Given the description of an element on the screen output the (x, y) to click on. 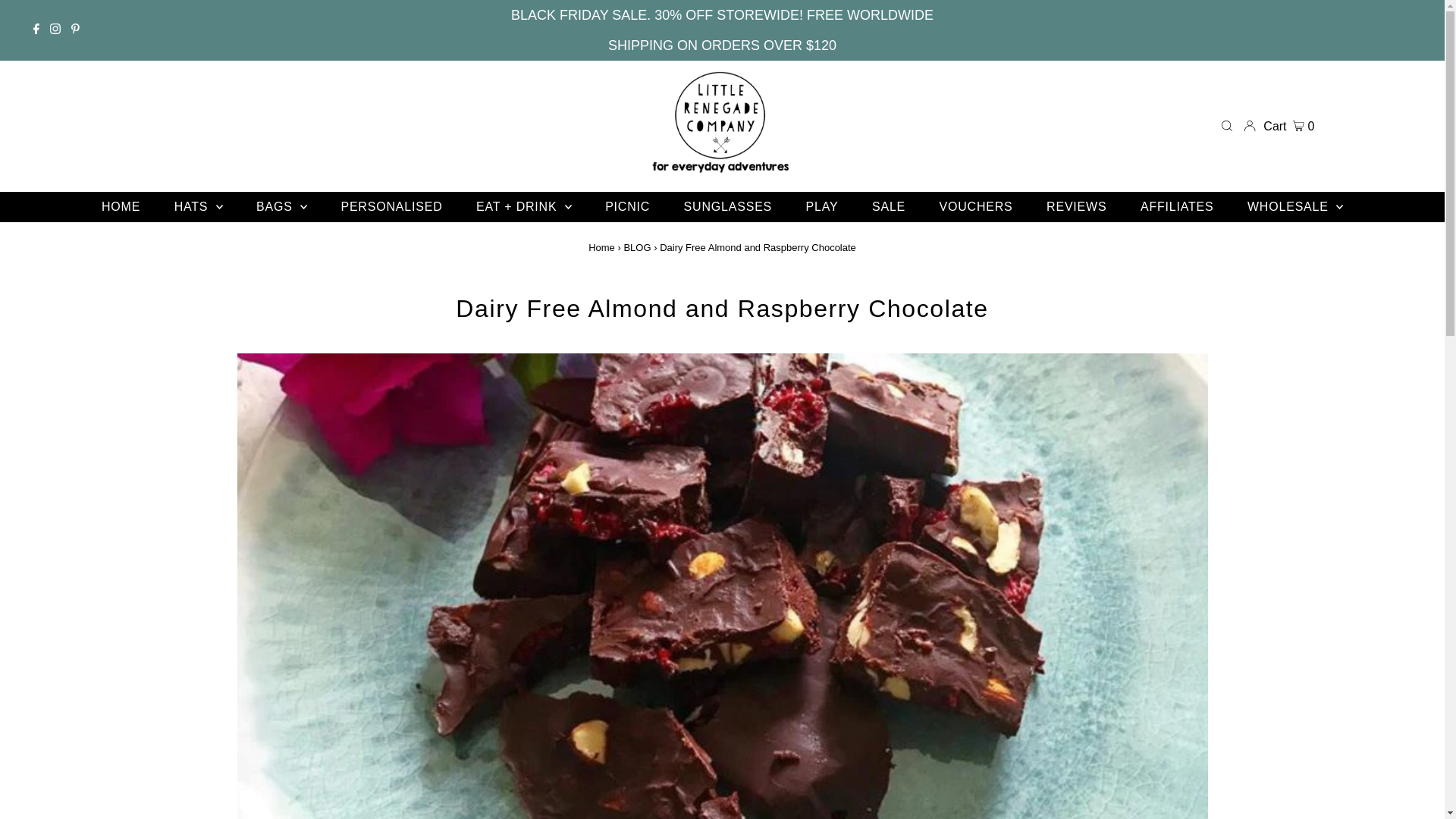
PICNIC Element type: text (627, 206)
PERSONALISED Element type: text (391, 206)
AFFILIATES Element type: text (1177, 206)
PLAY Element type: text (821, 206)
HOME Element type: text (120, 206)
SALE Element type: text (888, 206)
BLOG Element type: text (636, 247)
REVIEWS Element type: text (1076, 206)
VOUCHERS Element type: text (976, 206)
Home Element type: text (601, 247)
SUNGLASSES Element type: text (727, 206)
